Given the description of an element on the screen output the (x, y) to click on. 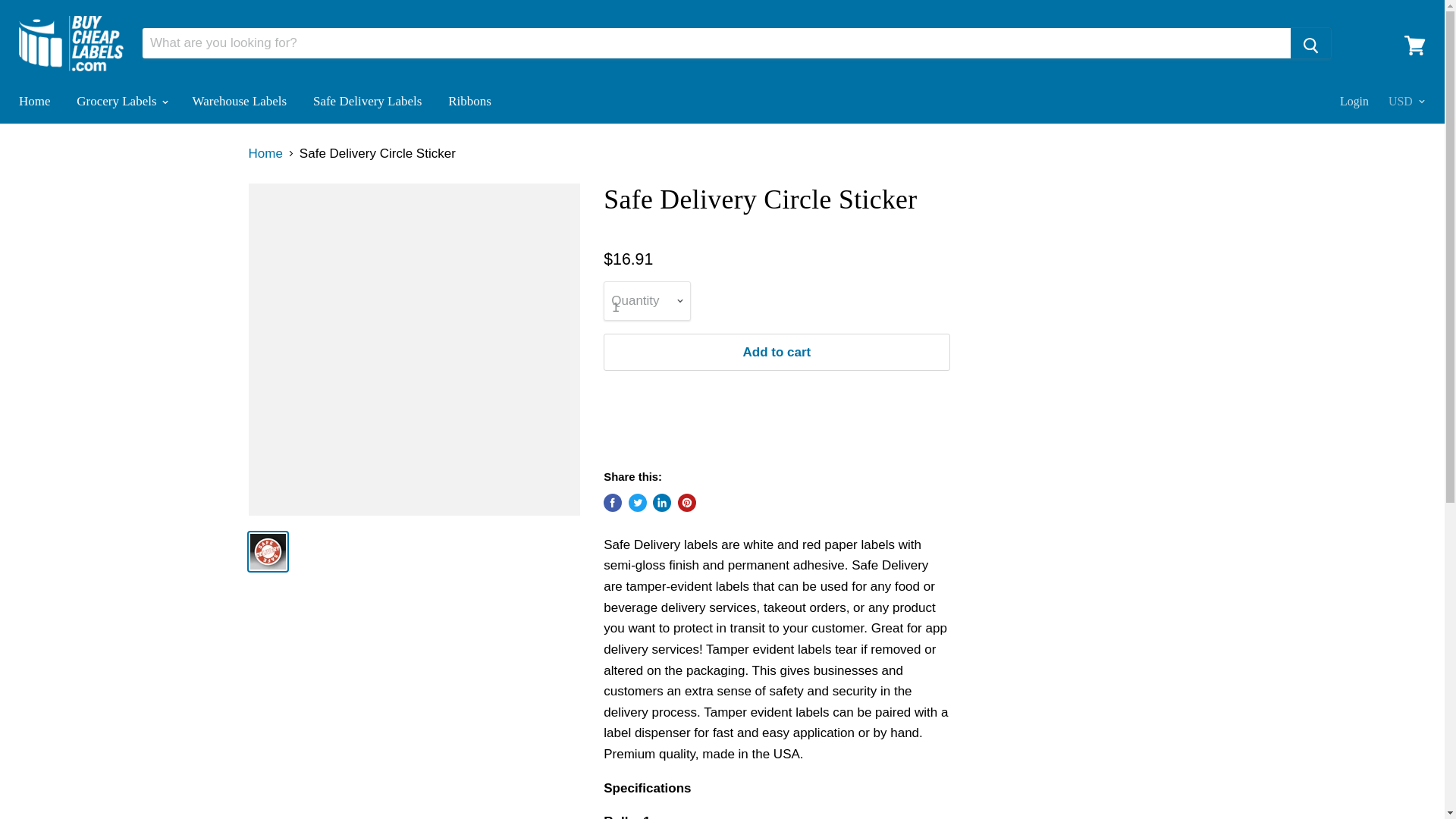
Home (34, 101)
Grocery Labels (121, 101)
Add to cart (776, 352)
Warehouse Labels (239, 101)
Ribbons (469, 101)
Home (265, 153)
View cart (1414, 45)
Safe Delivery Labels (367, 101)
Login (1353, 101)
